Given the description of an element on the screen output the (x, y) to click on. 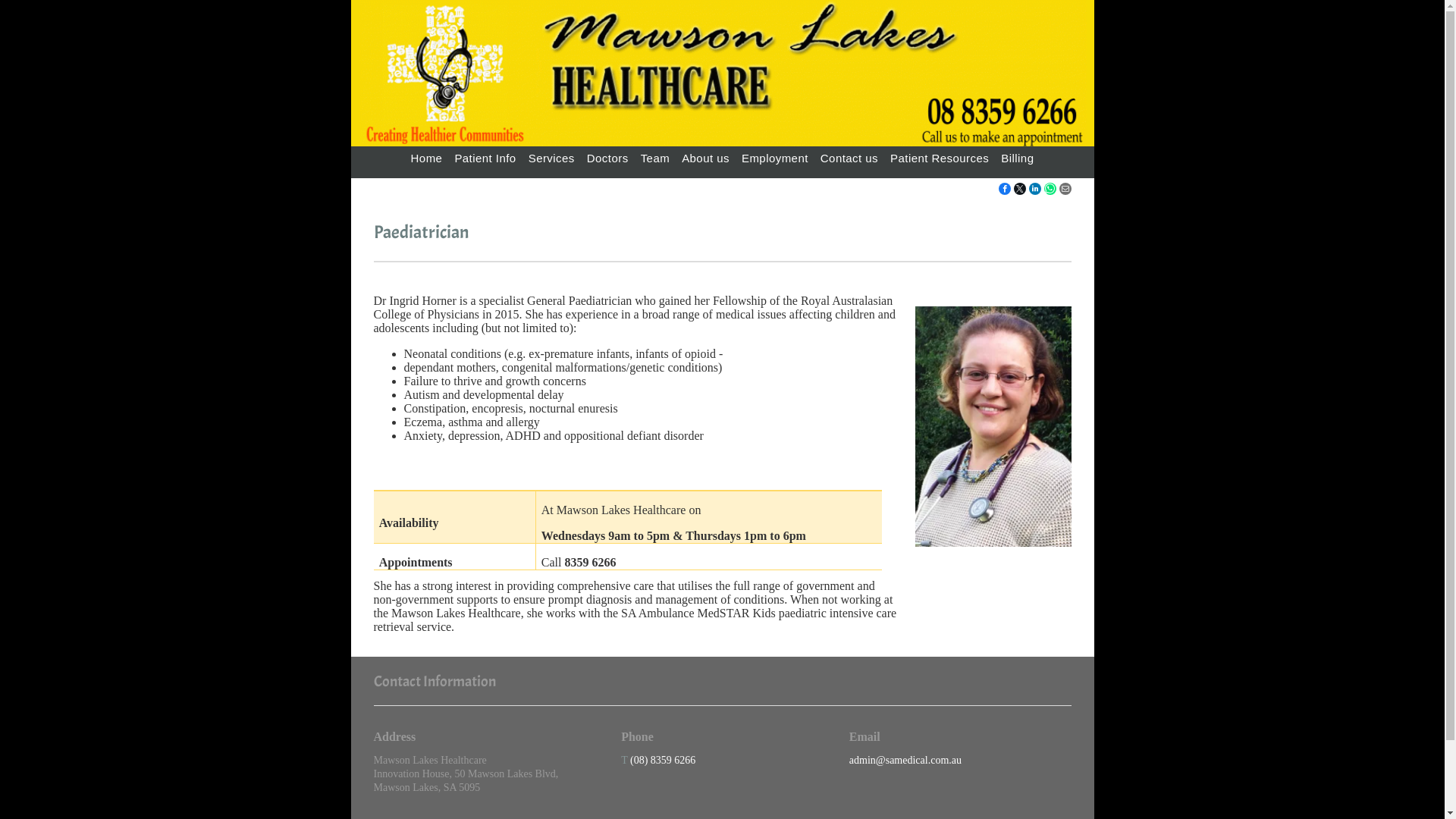
Home Element type: text (426, 158)
Patient Resources Element type: text (939, 158)
Services Element type: text (551, 158)
Patient Info Element type: text (484, 158)
Team Element type: text (654, 158)
Doctors Element type: text (607, 158)
Contact us Element type: text (849, 158)
Billing Element type: text (1016, 158)
About us Element type: text (705, 158)
T (08) 8359 6266 Element type: text (658, 759)
admin@samedical.com.au Element type: text (905, 759)
Employment Element type: text (774, 158)
